Given the description of an element on the screen output the (x, y) to click on. 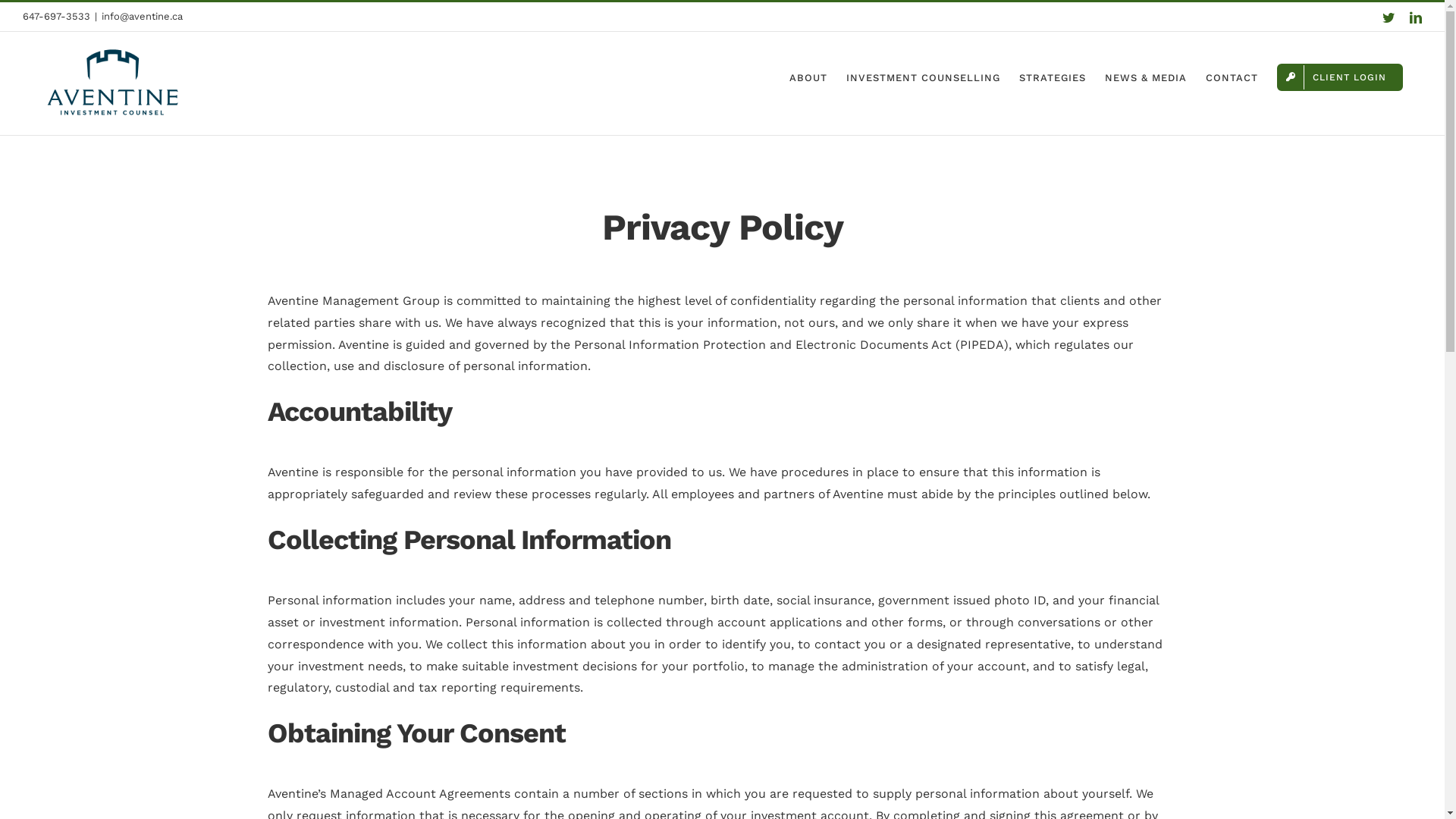
Twitter Element type: text (1388, 17)
STRATEGIES Element type: text (1052, 77)
NEWS & MEDIA Element type: text (1145, 77)
CLIENT LOGIN Element type: text (1339, 77)
LinkedIn Element type: text (1415, 17)
info@aventine.ca Element type: text (141, 15)
INVESTMENT COUNSELLING Element type: text (923, 77)
CONTACT Element type: text (1231, 77)
ABOUT Element type: text (808, 77)
